Given the description of an element on the screen output the (x, y) to click on. 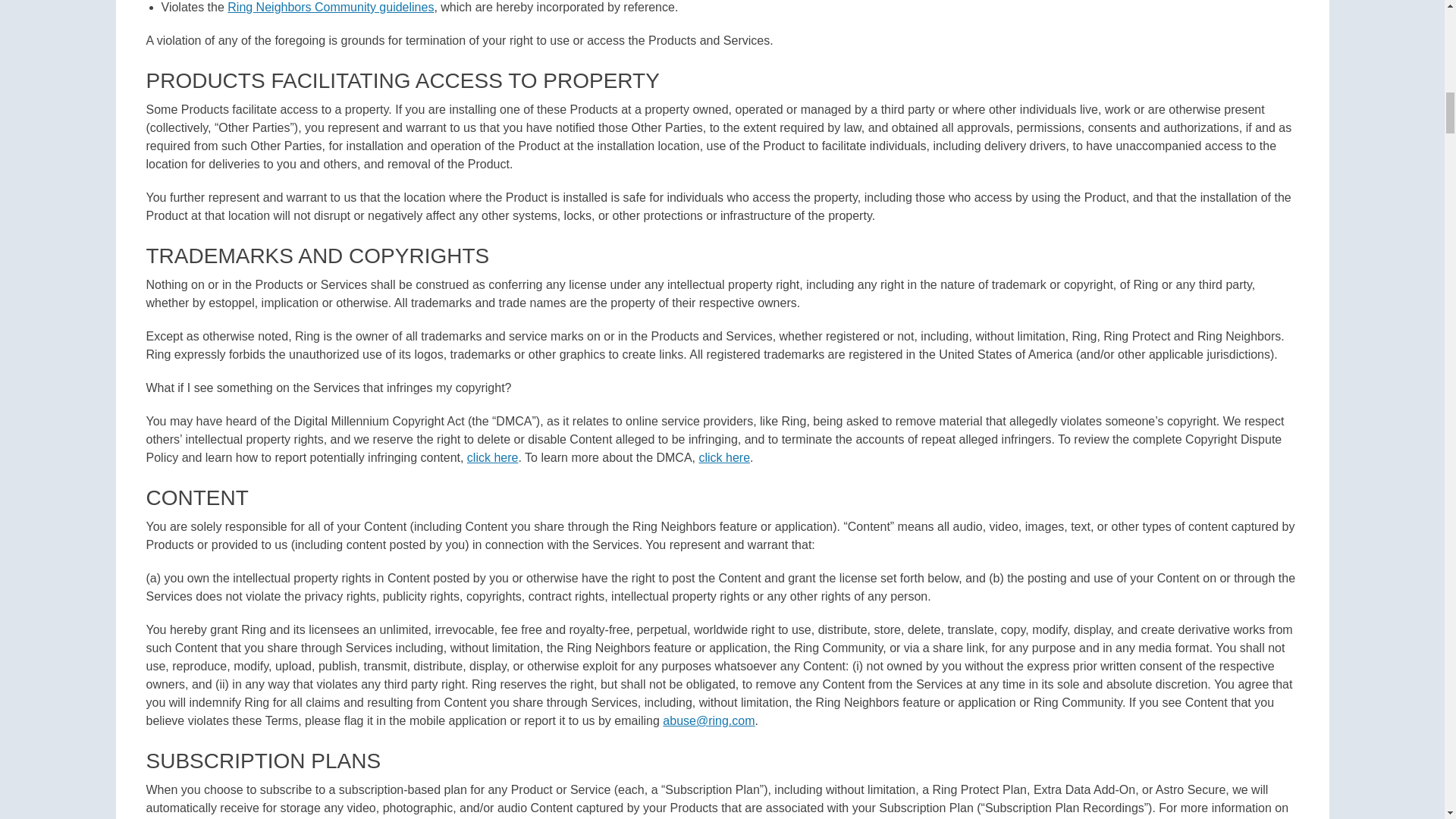
Ring Neighbors Community guidelines (330, 6)
click here (723, 457)
click here (492, 457)
